Given the description of an element on the screen output the (x, y) to click on. 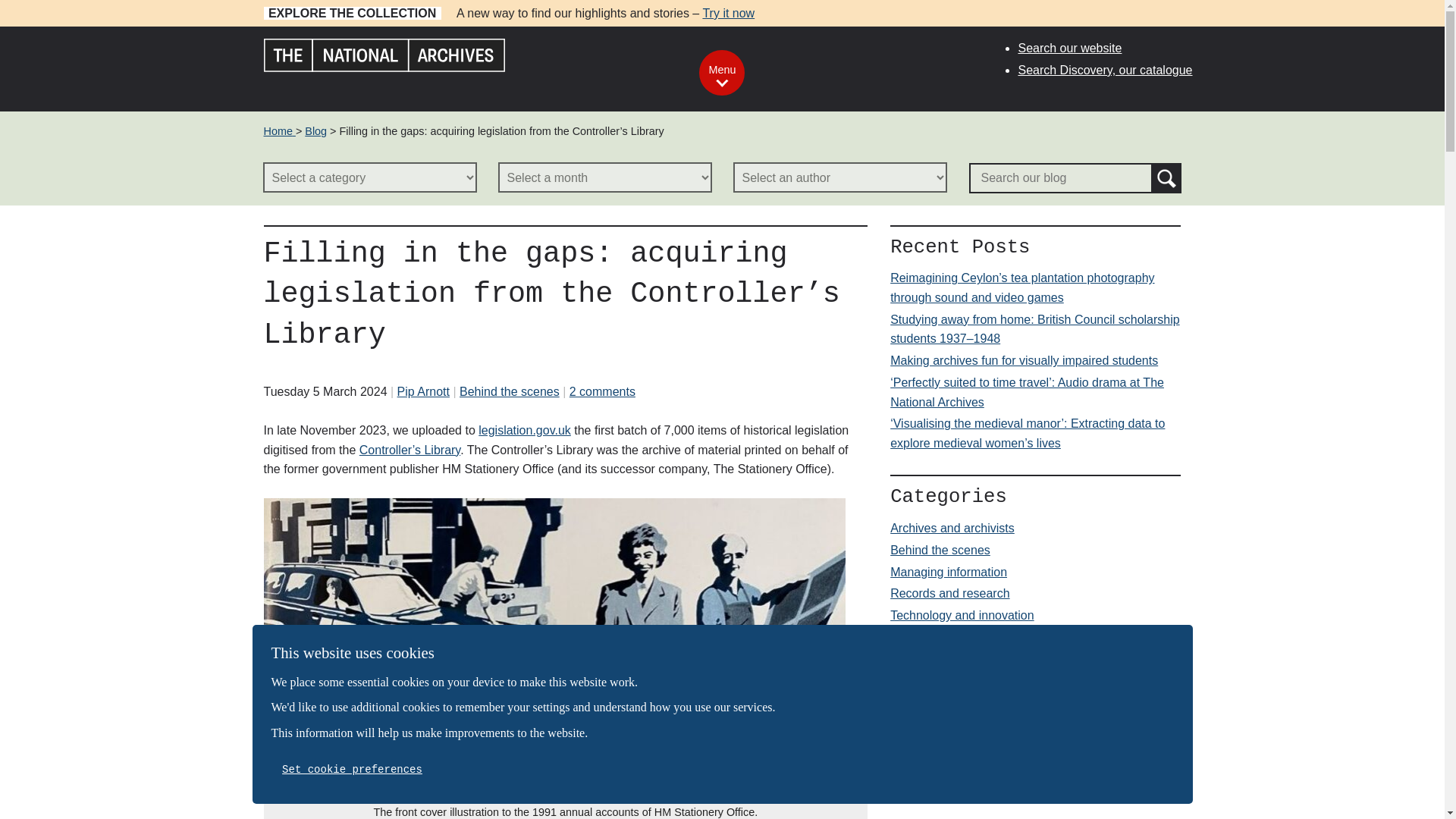
Search Discovery, our catalogue (1104, 69)
Try it now (727, 12)
Menu (721, 72)
View all posts in Behind the scenes (509, 391)
Main menu (721, 72)
Set cookie preferences (351, 769)
Search (1165, 177)
Search our website (1069, 47)
Posts by Pip Arnott (423, 391)
